Given the description of an element on the screen output the (x, y) to click on. 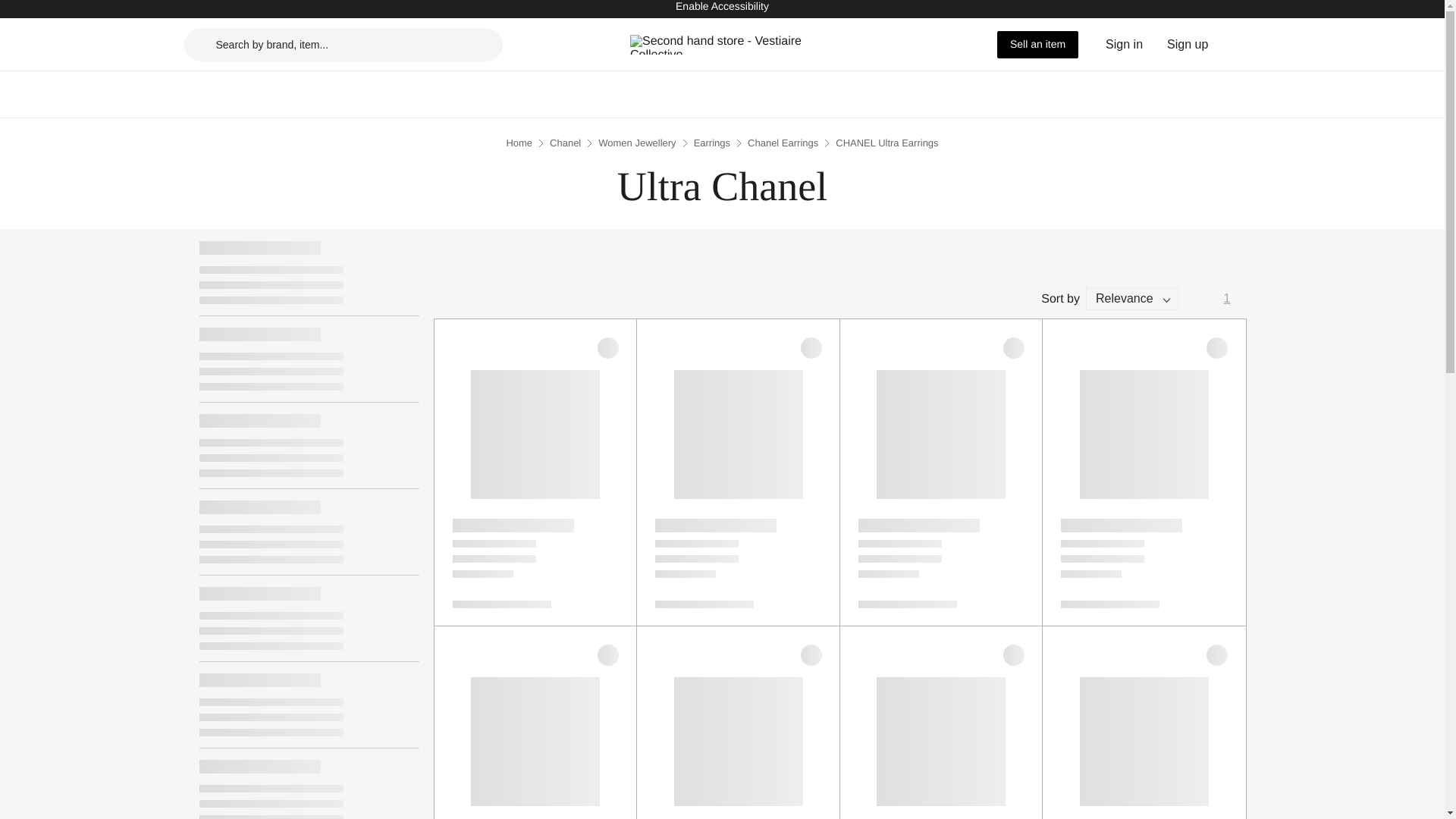
Home (518, 142)
Earrings (712, 142)
Sell an item (1037, 43)
Relevance (1131, 298)
Chanel Earrings (783, 142)
Search by brand, item... (342, 43)
Women Jewellery (636, 142)
Chanel (565, 142)
Sign in (1123, 44)
1 (1227, 298)
Sign up (1187, 44)
